Given the description of an element on the screen output the (x, y) to click on. 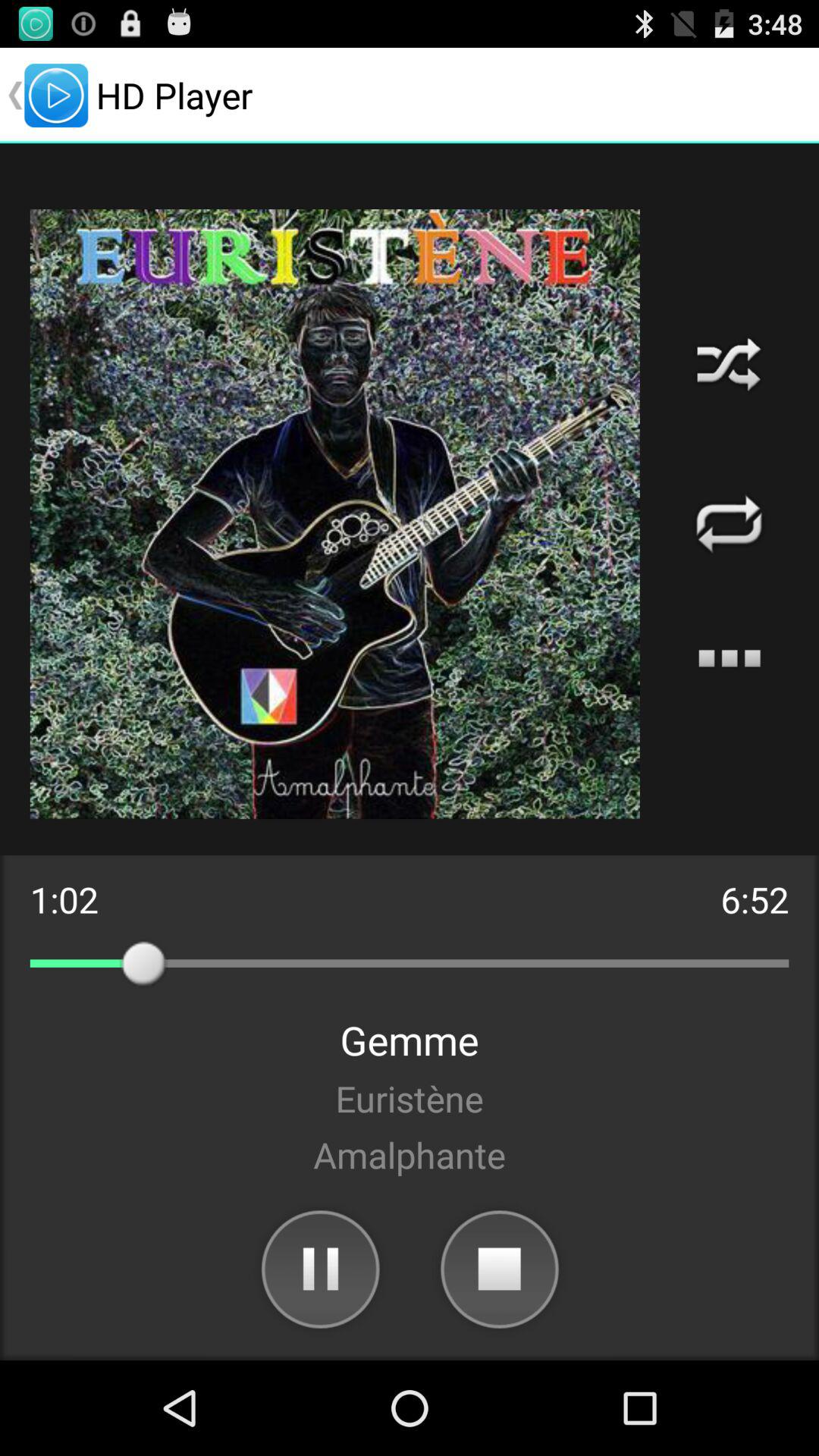
choose amalphante app (409, 1154)
